Given the description of an element on the screen output the (x, y) to click on. 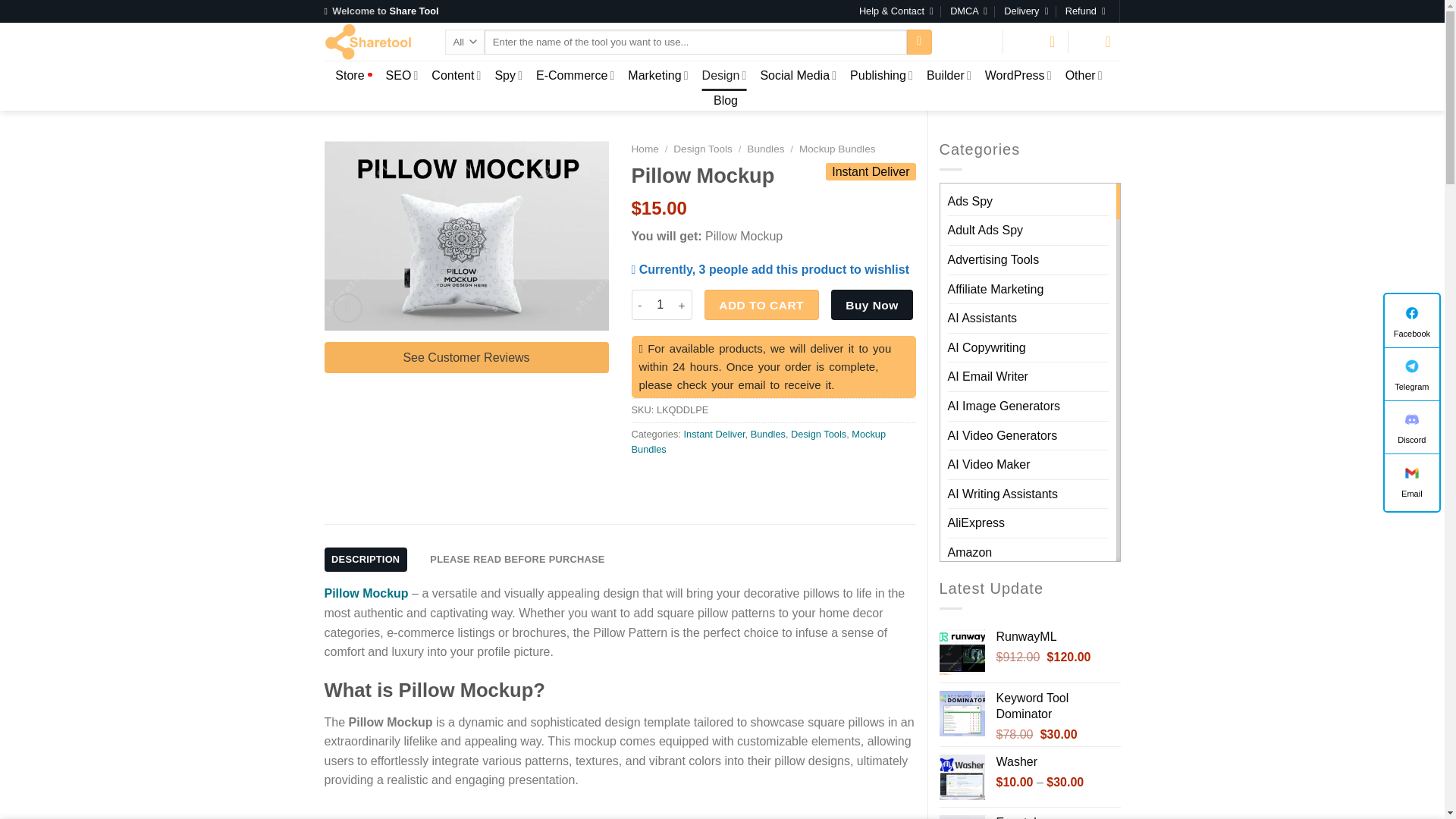
Refund   (1085, 11)
Saved (1035, 41)
Wishlist (1035, 41)
Search (919, 42)
Spy (508, 75)
Cart (1101, 41)
E-Commerce (574, 75)
Delivery   (1026, 11)
DMCA   (968, 11)
SEO (402, 75)
